Given the description of an element on the screen output the (x, y) to click on. 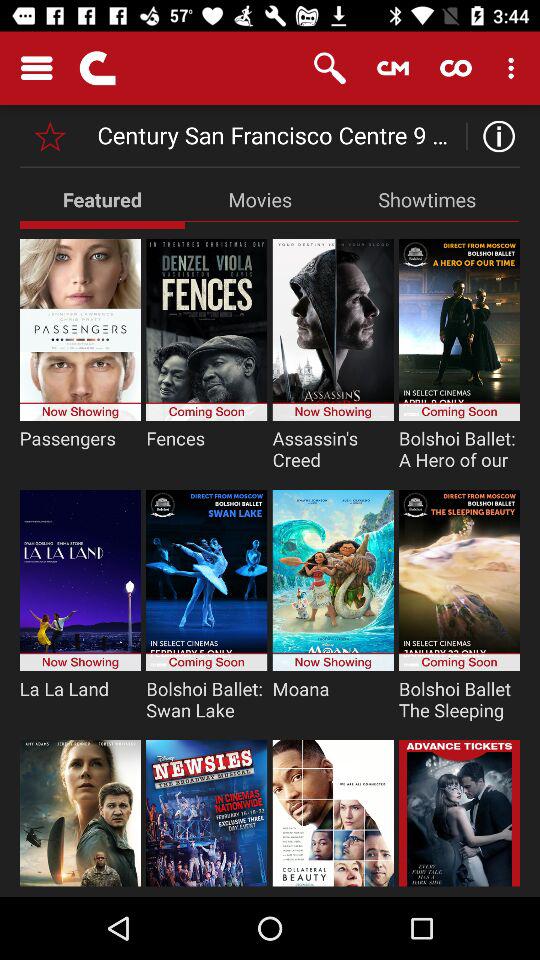
favorite (49, 136)
